Given the description of an element on the screen output the (x, y) to click on. 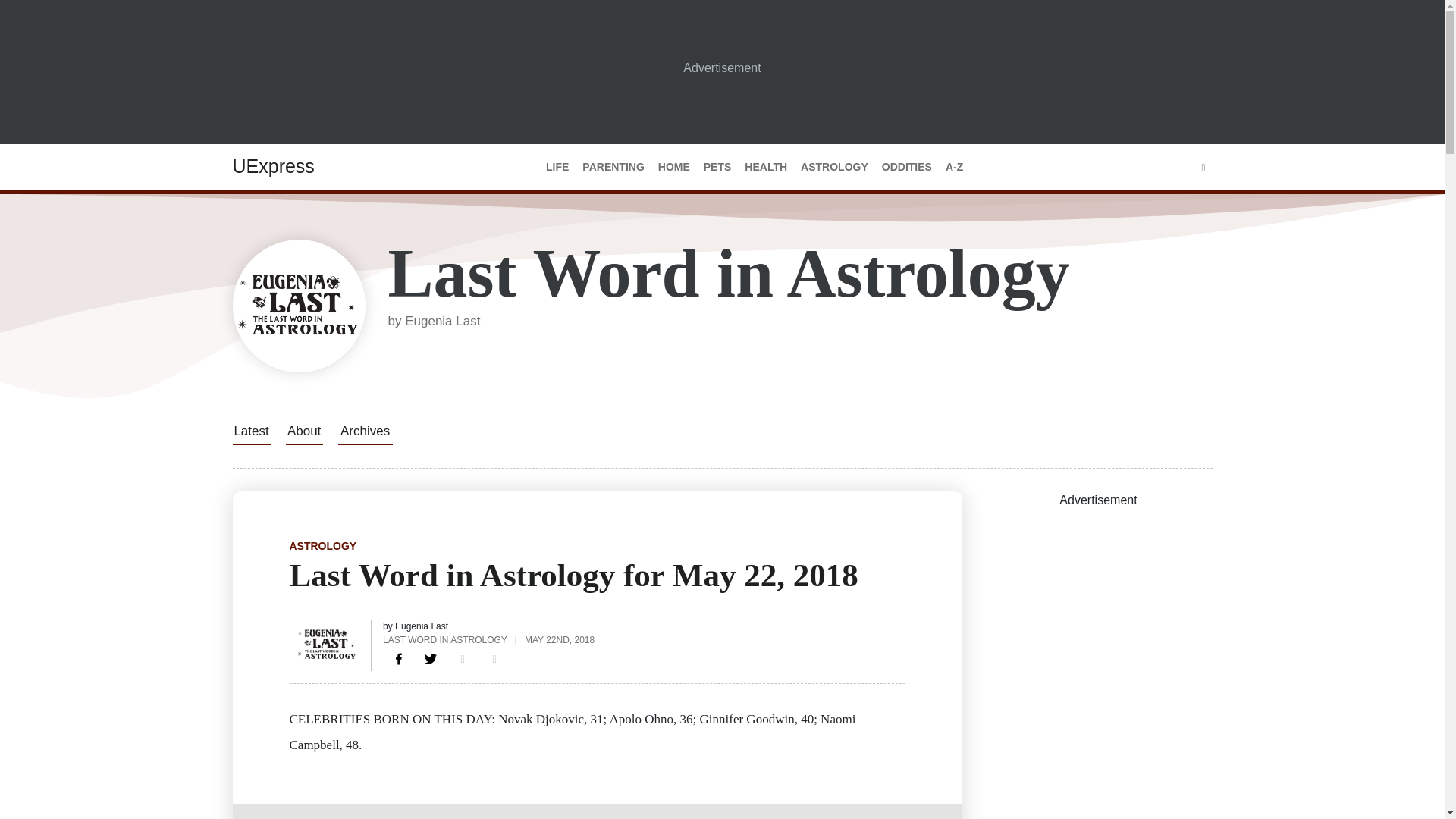
About (304, 431)
ASTROLOGY (322, 545)
PARENTING (612, 166)
Latest (251, 431)
LAST WORD IN ASTROLOGY (444, 639)
UExpress (272, 166)
HEALTH (765, 166)
A-Z (954, 166)
ASTROLOGY (834, 166)
ODDITIES (907, 166)
PETS (717, 166)
LIFE (556, 166)
HOME (673, 166)
Last Word in Astrology for May 22, 2018 (398, 658)
Archives (365, 431)
